Given the description of an element on the screen output the (x, y) to click on. 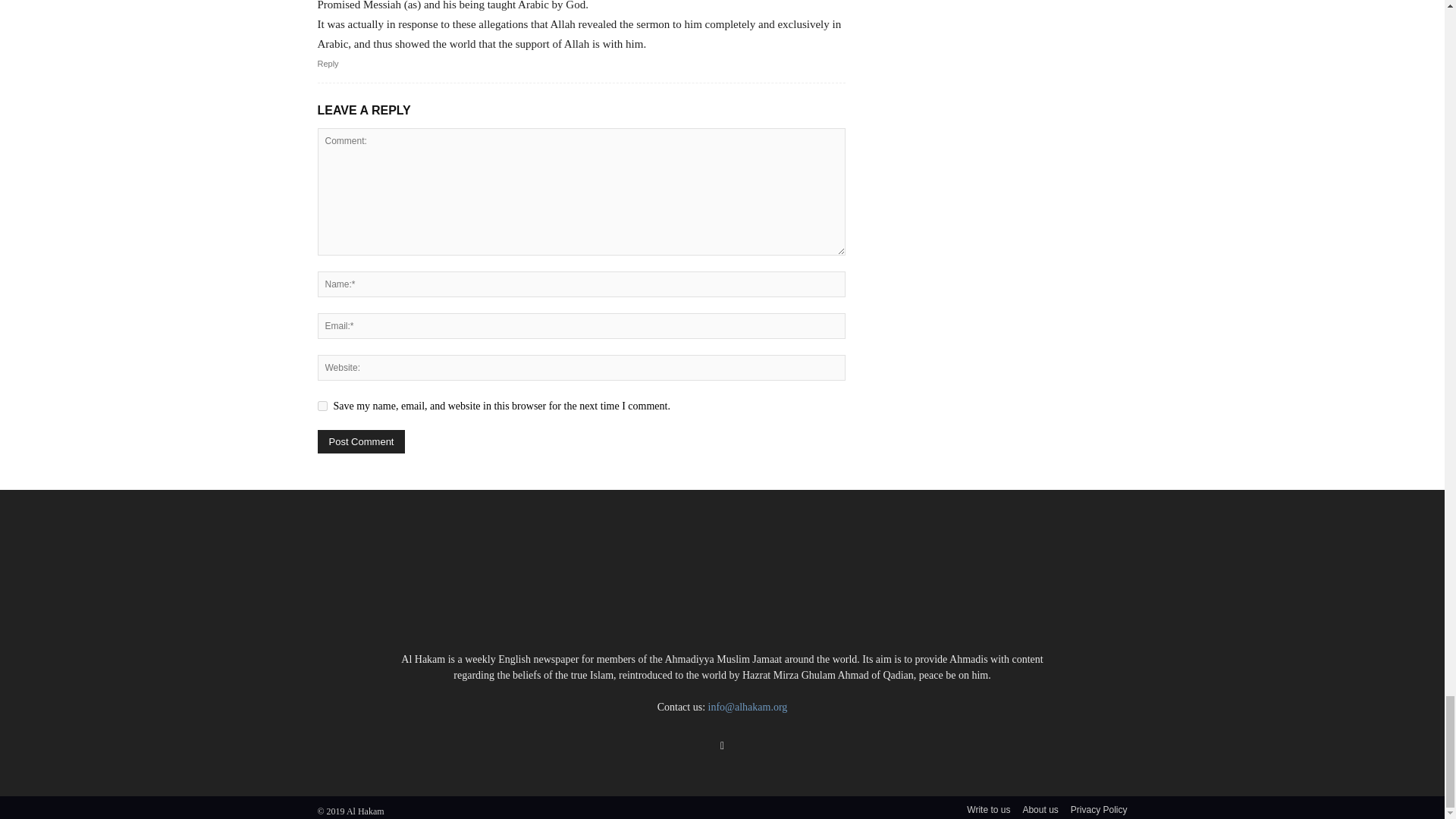
Post Comment (360, 441)
yes (321, 406)
